Given the description of an element on the screen output the (x, y) to click on. 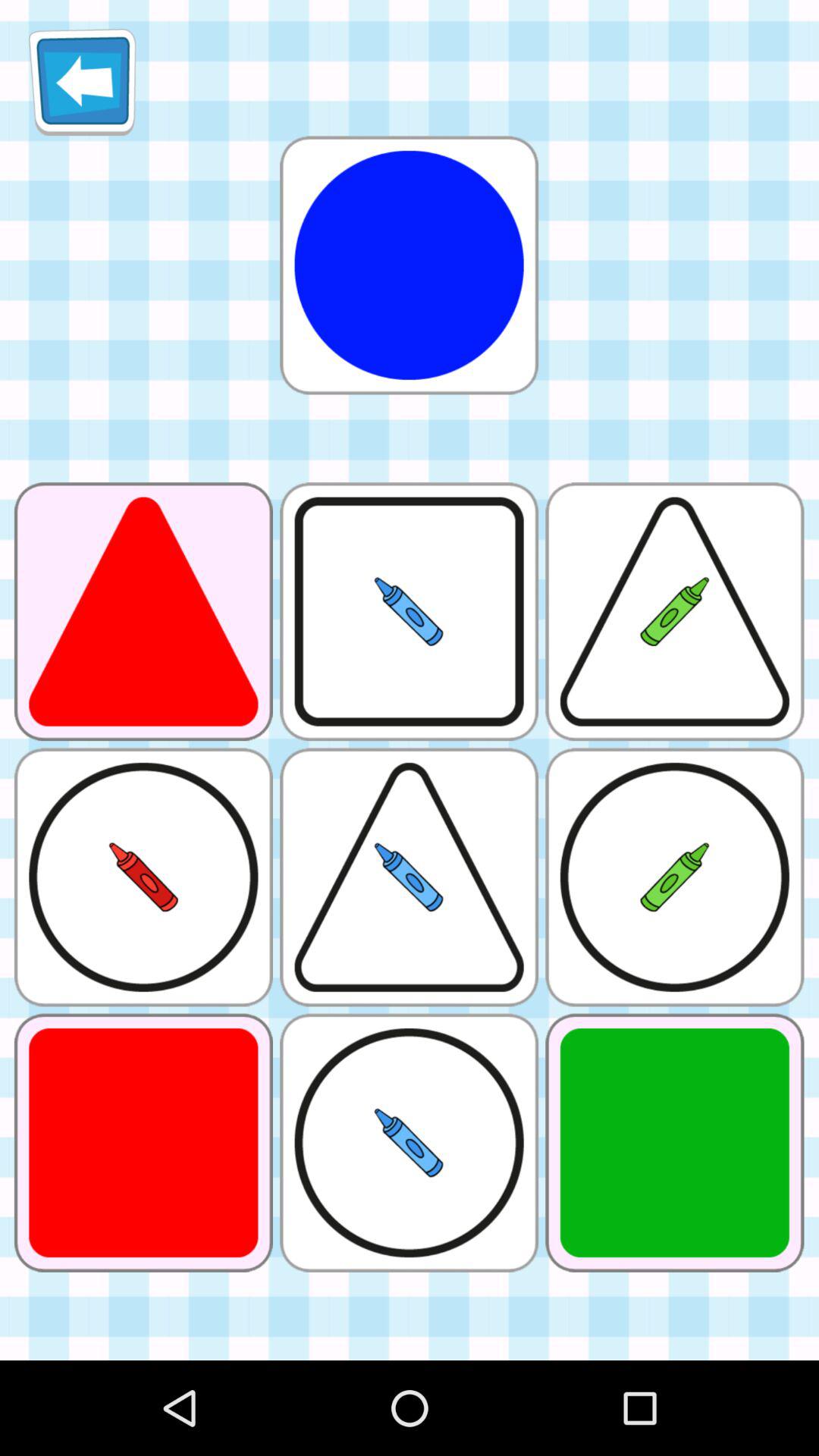
enters in a circle (409, 265)
